Given the description of an element on the screen output the (x, y) to click on. 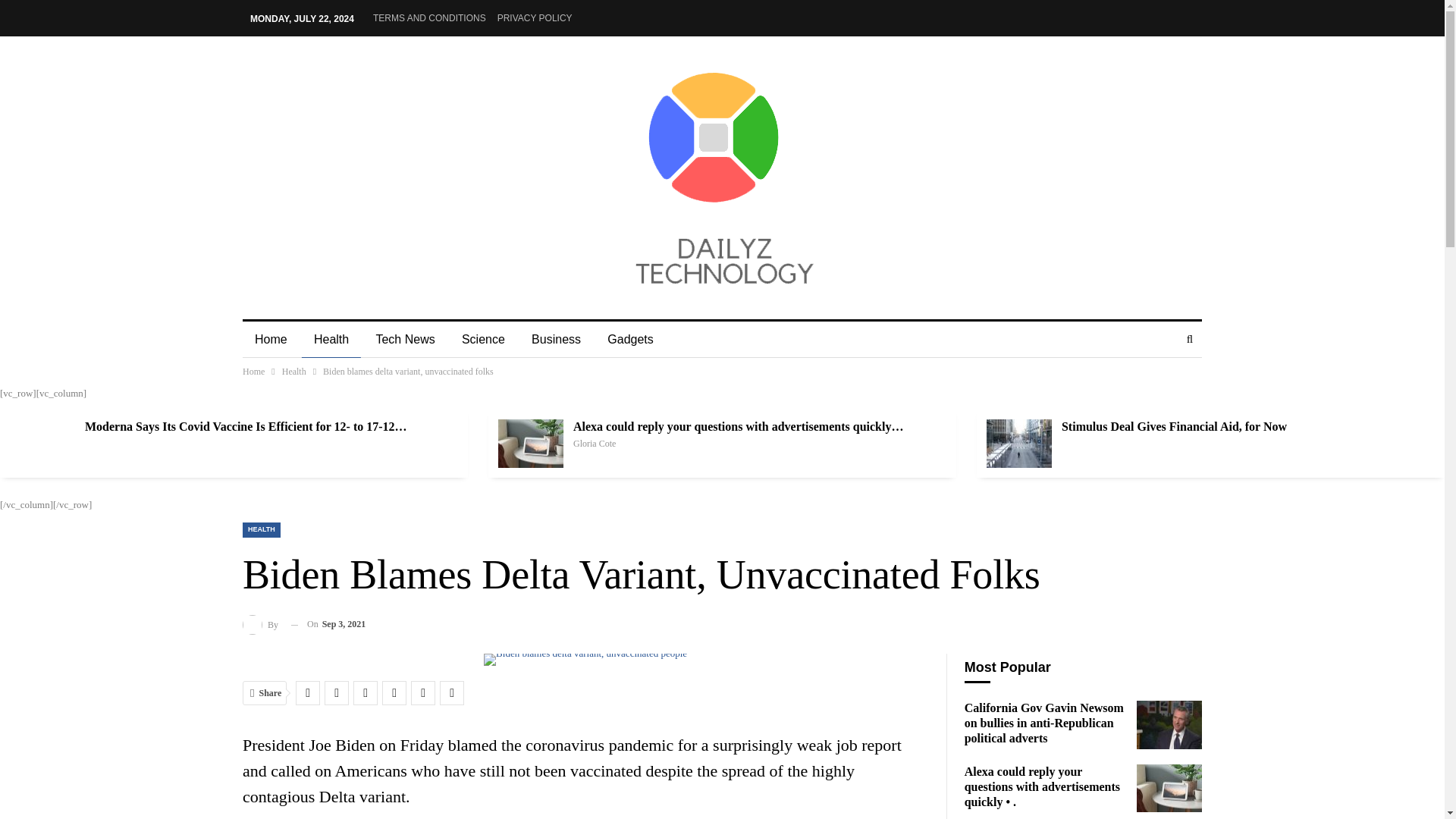
Home (253, 371)
Health (293, 371)
PRIVACY POLICY (534, 18)
Stimulus Deal Gives Financial Aid, for Now (1019, 443)
Stimulus Deal Gives Financial Aid, for Now (1174, 426)
Home (271, 339)
HEALTH (262, 529)
By (261, 624)
Browse Author Articles (594, 443)
Gloria Cote (594, 443)
Health (331, 339)
TERMS AND CONDITIONS (429, 18)
Tech News (404, 339)
Gadgets (630, 339)
